Given the description of an element on the screen output the (x, y) to click on. 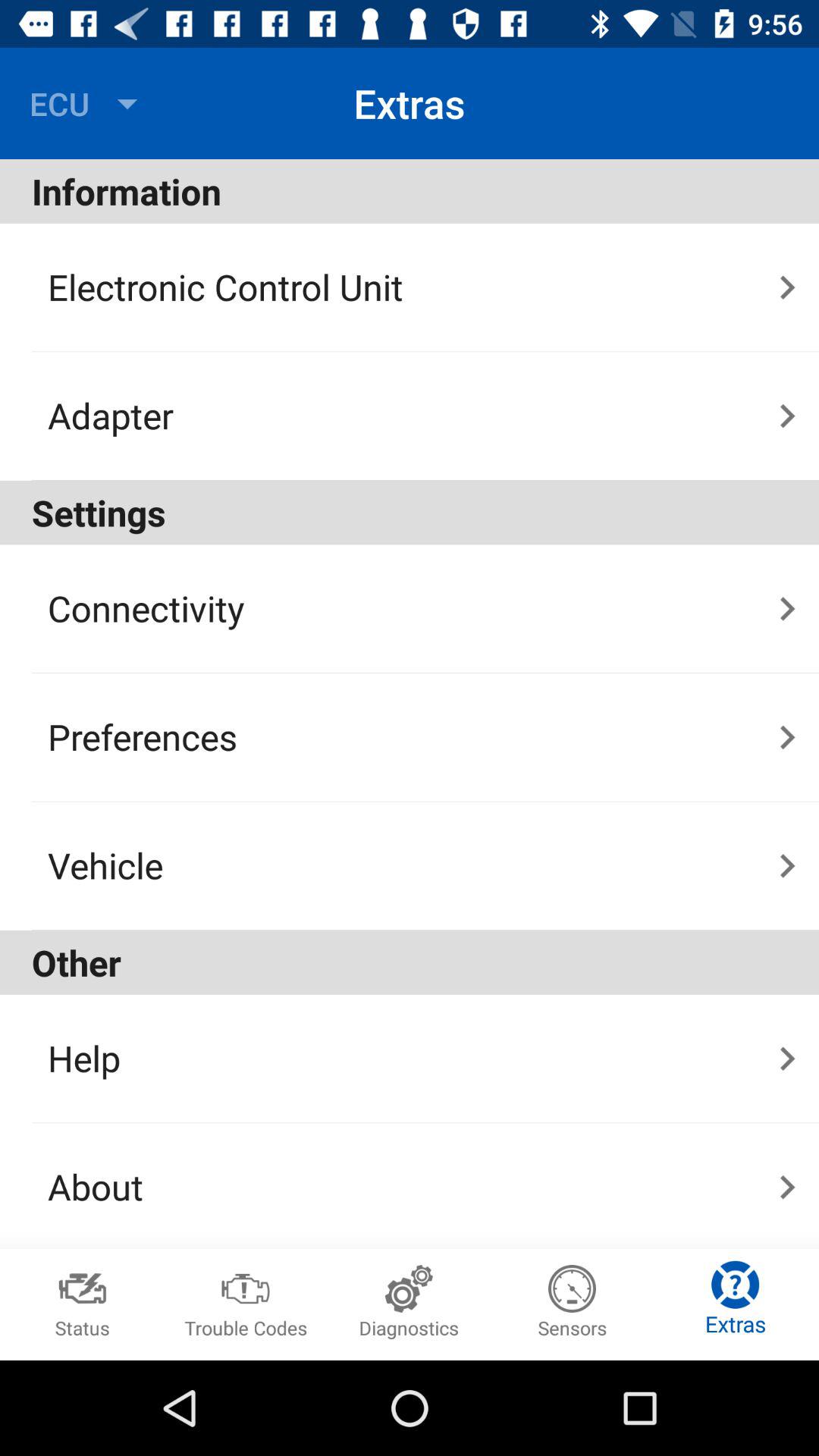
swipe to the ecu (87, 103)
